Given the description of an element on the screen output the (x, y) to click on. 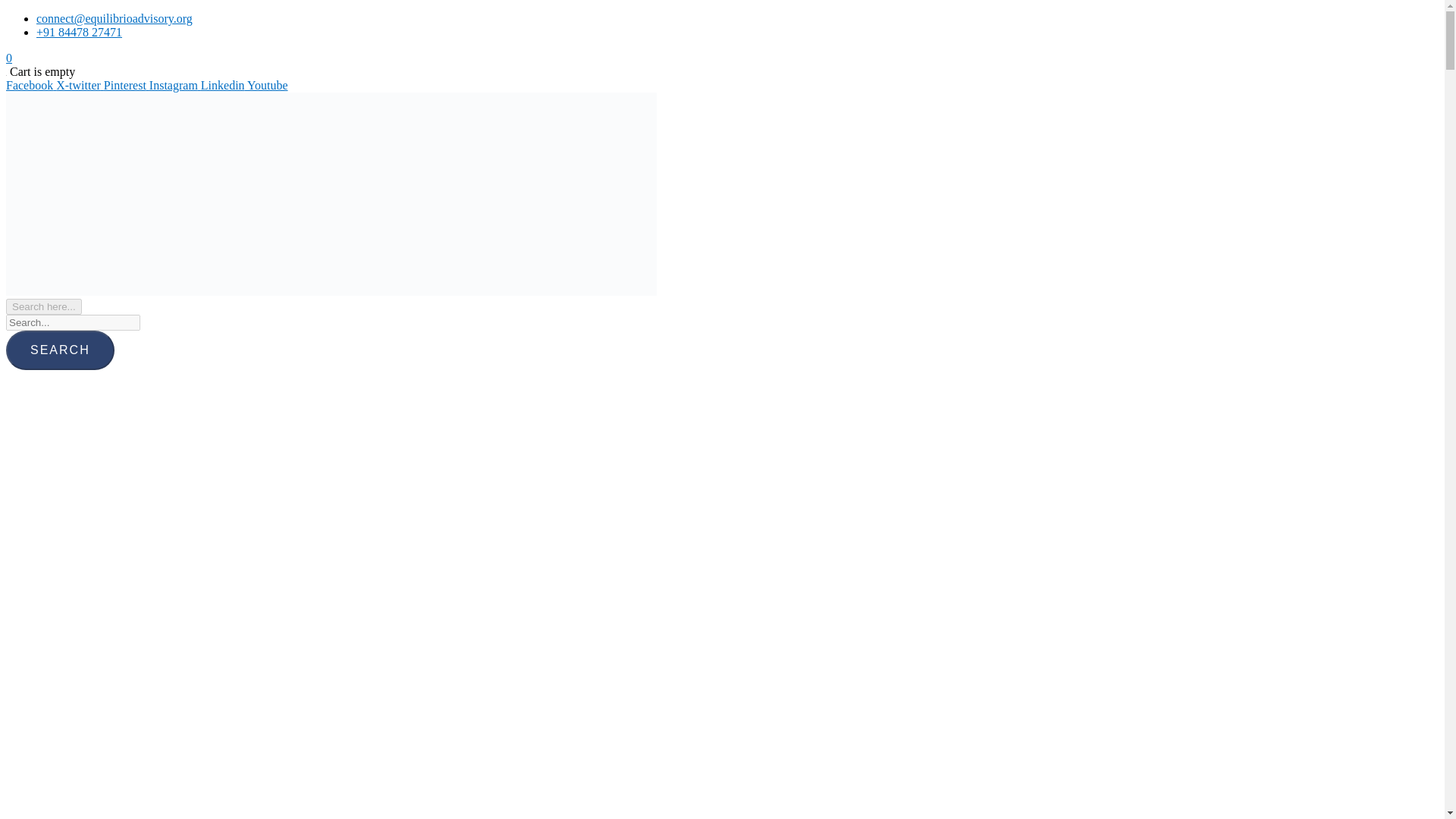
Instagram (174, 84)
Search (60, 350)
Linkedin (223, 84)
X-twitter (79, 84)
Search here... (43, 306)
Search (60, 350)
Search (60, 350)
Youtube (267, 84)
Facebook (30, 84)
Pinterest (126, 84)
